Given the description of an element on the screen output the (x, y) to click on. 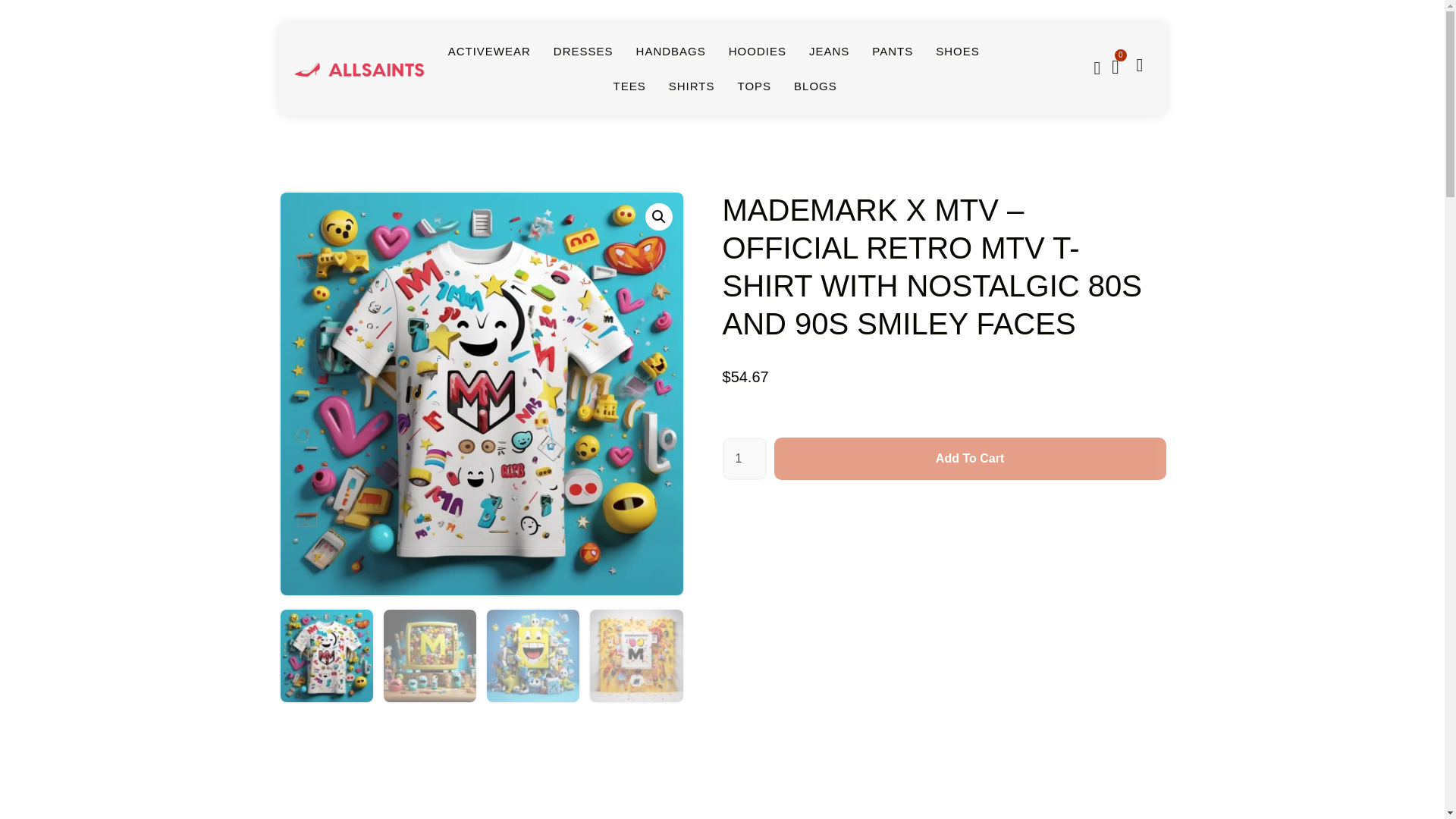
TEES (629, 86)
Add To Cart (970, 458)
TOPS (753, 86)
JEANS (828, 51)
PANTS (892, 51)
DRESSES (582, 51)
HANDBAGS (671, 51)
SHIRTS (691, 86)
1 (743, 458)
BLOGS (815, 86)
SHOES (957, 51)
ACTIVEWEAR (489, 51)
HOODIES (757, 51)
